Given the description of an element on the screen output the (x, y) to click on. 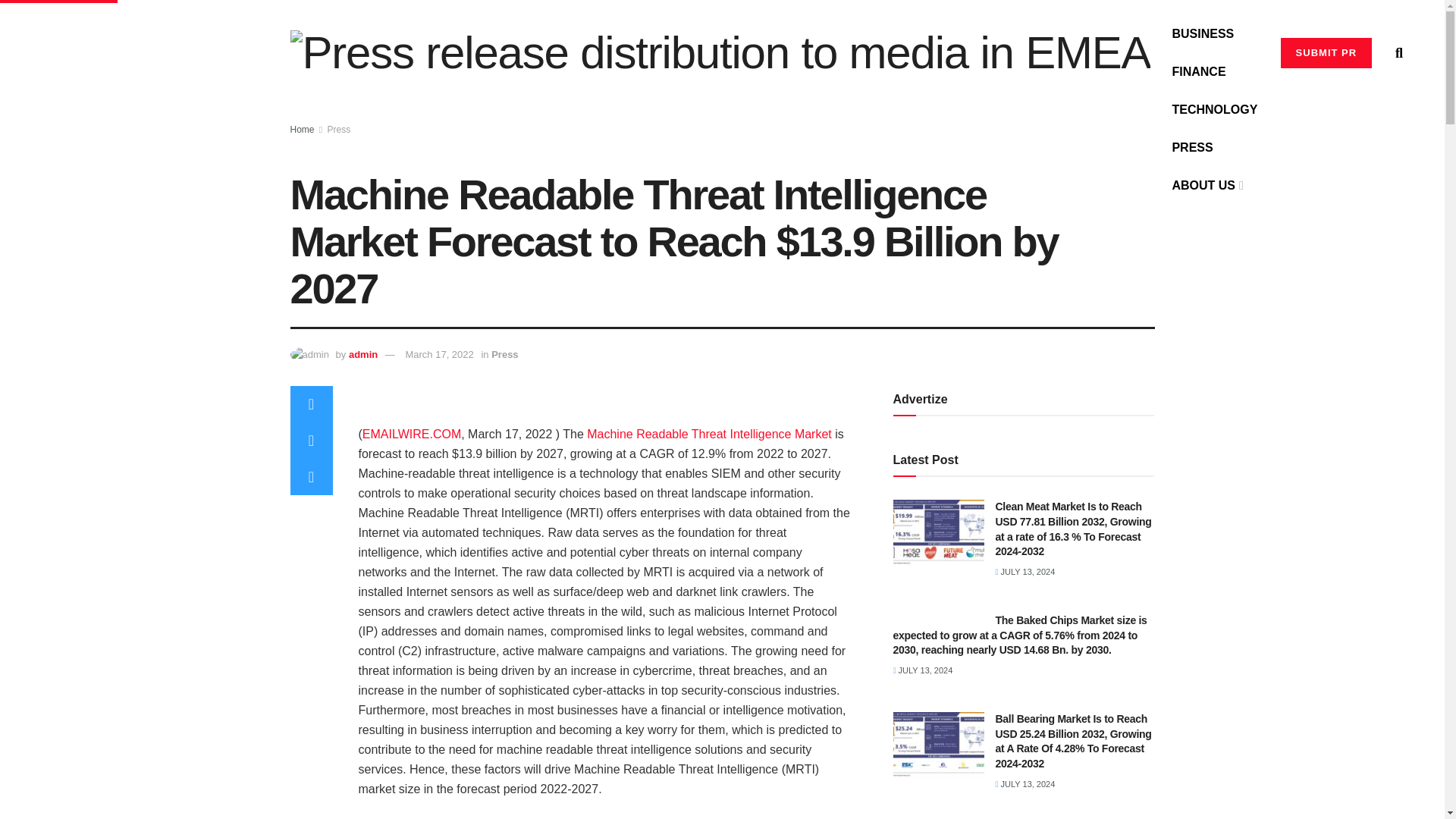
SUBMIT PR (1327, 52)
BUSINESS (1202, 33)
Press (338, 129)
ABOUT US (1206, 185)
FINANCE (1198, 71)
Press (505, 354)
GLOBAL (1197, 3)
admin (363, 354)
March 17, 2022 (438, 354)
Home (301, 129)
PRESS (1192, 147)
TECHNOLOGY (1214, 109)
